Given the description of an element on the screen output the (x, y) to click on. 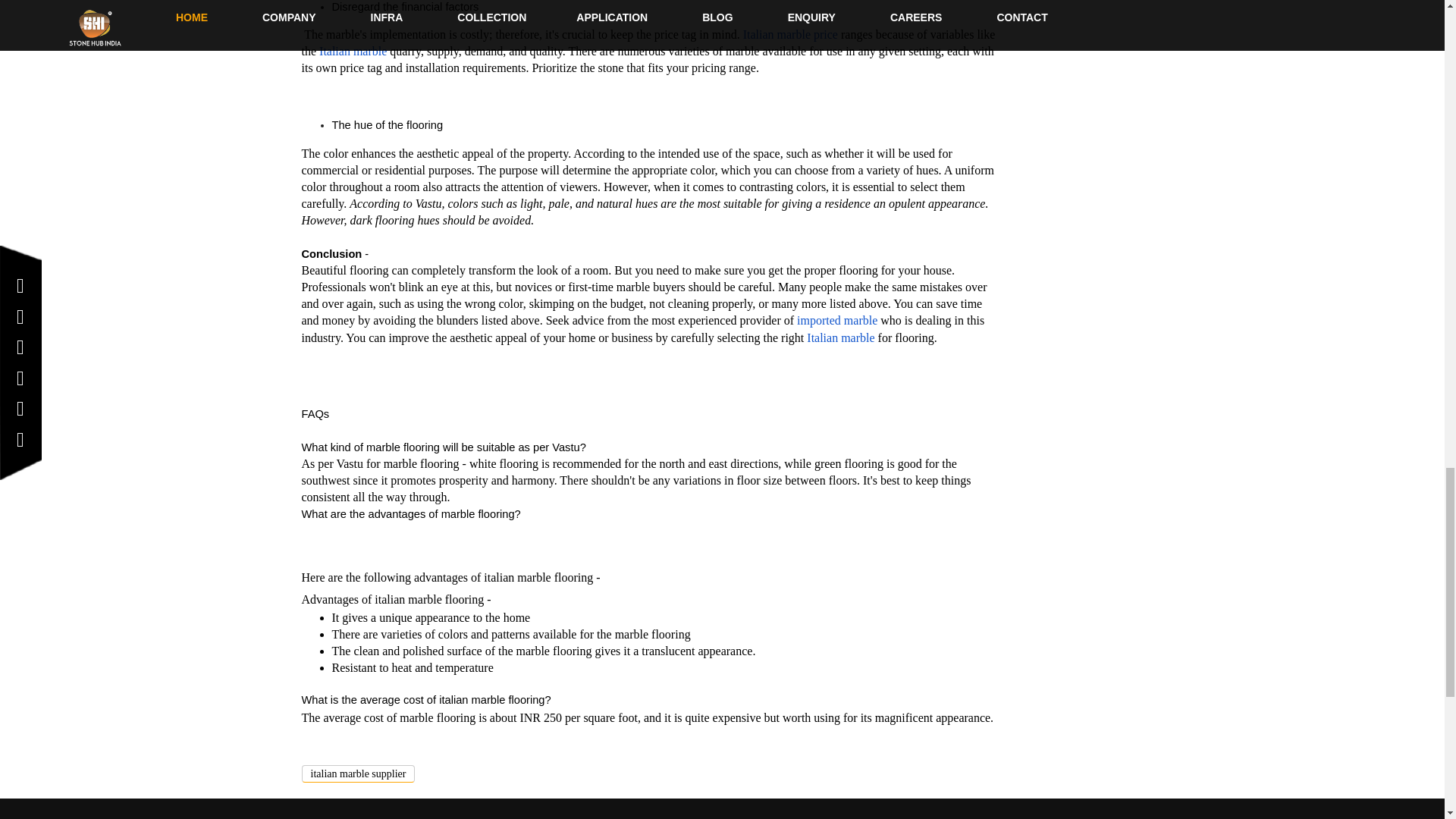
Italian marble (840, 337)
italian marble supplier (358, 773)
Italian marble (352, 51)
Italian marble price (790, 33)
imported marble (836, 319)
